Given the description of an element on the screen output the (x, y) to click on. 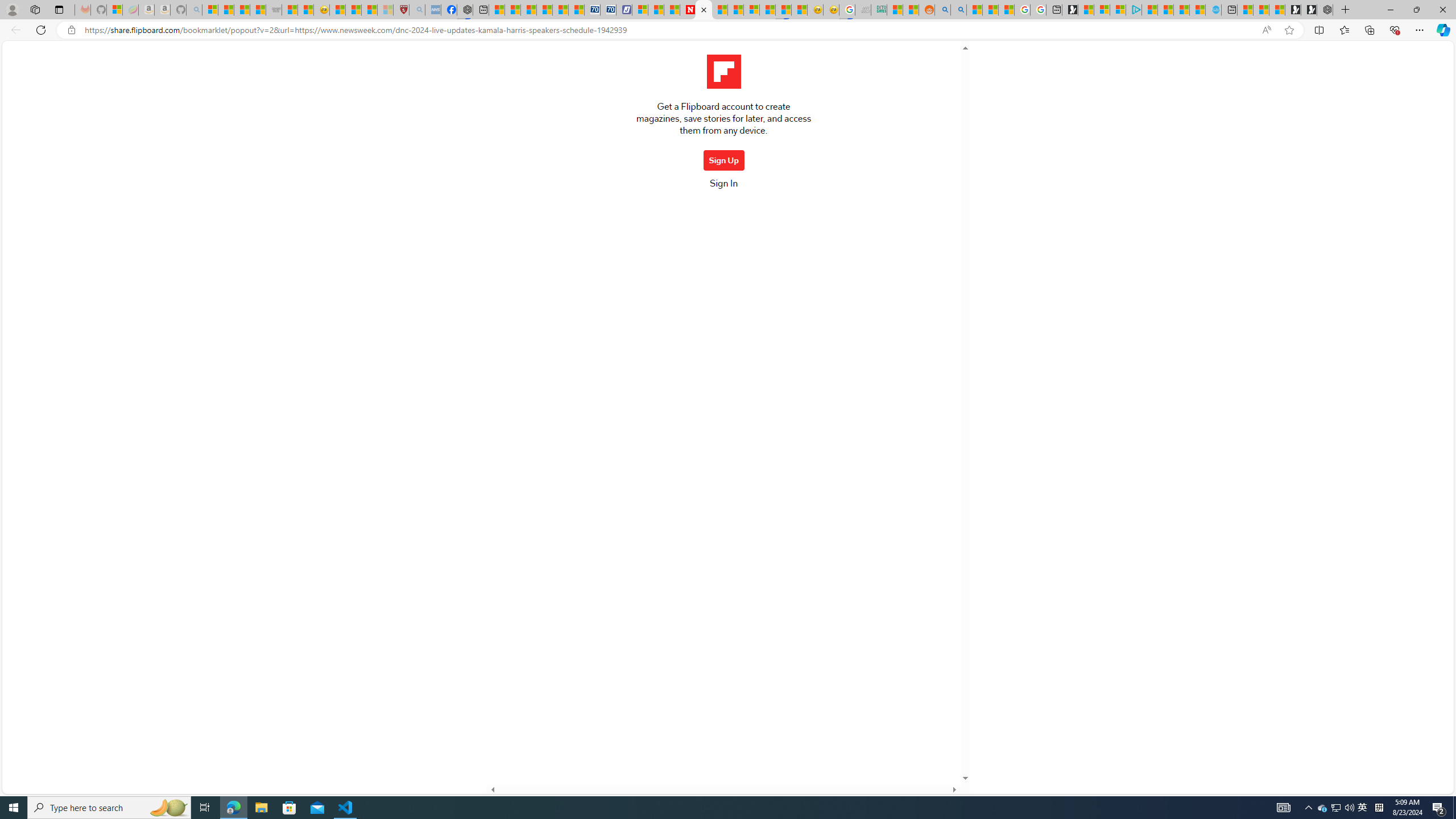
Flipboard Signup (703, 9)
Class: logo (723, 71)
Navy Quest (863, 9)
